Given the description of an element on the screen output the (x, y) to click on. 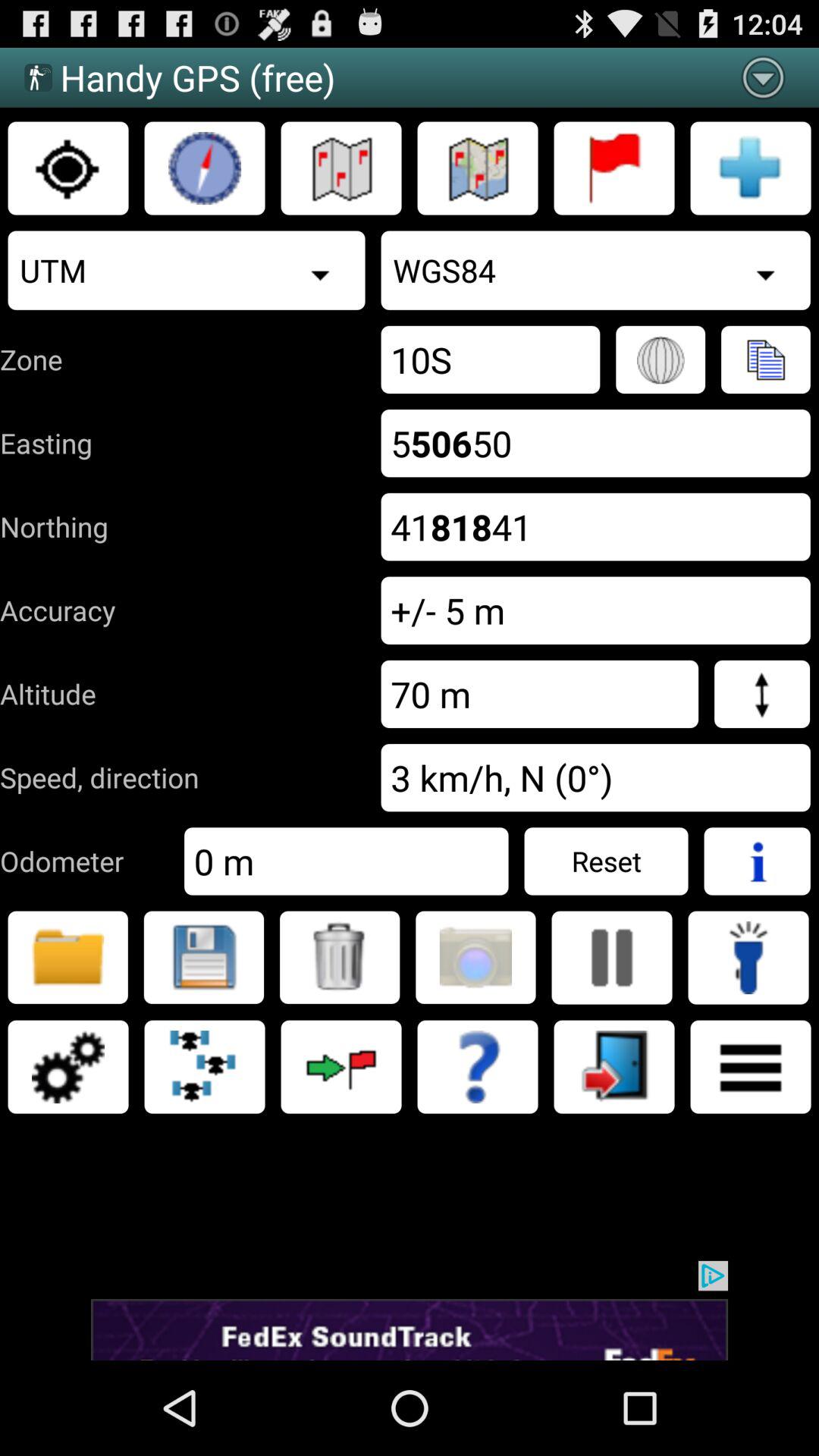
information (757, 861)
